Given the description of an element on the screen output the (x, y) to click on. 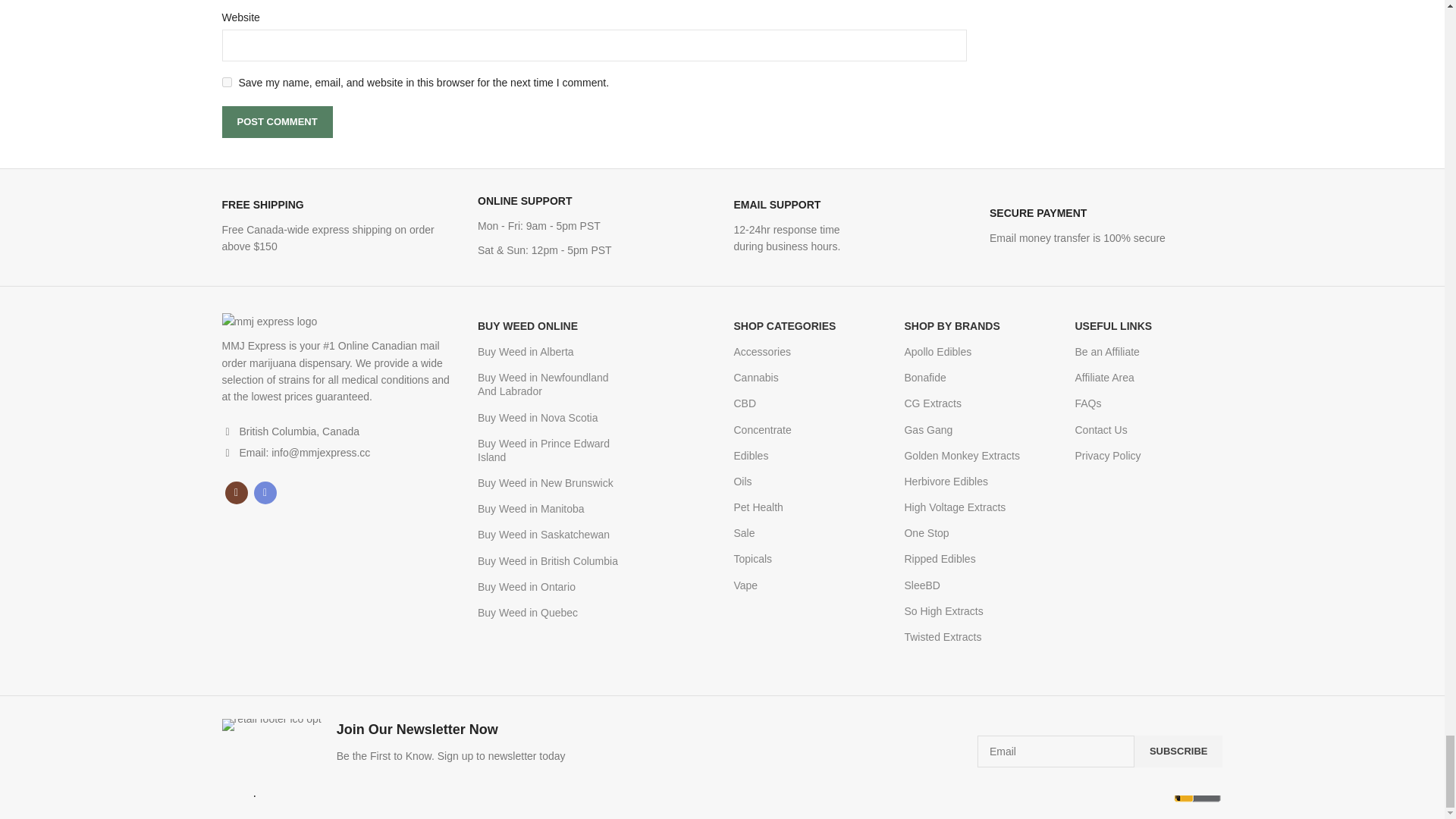
yes (226, 81)
Post Comment (276, 122)
